Given the description of an element on the screen output the (x, y) to click on. 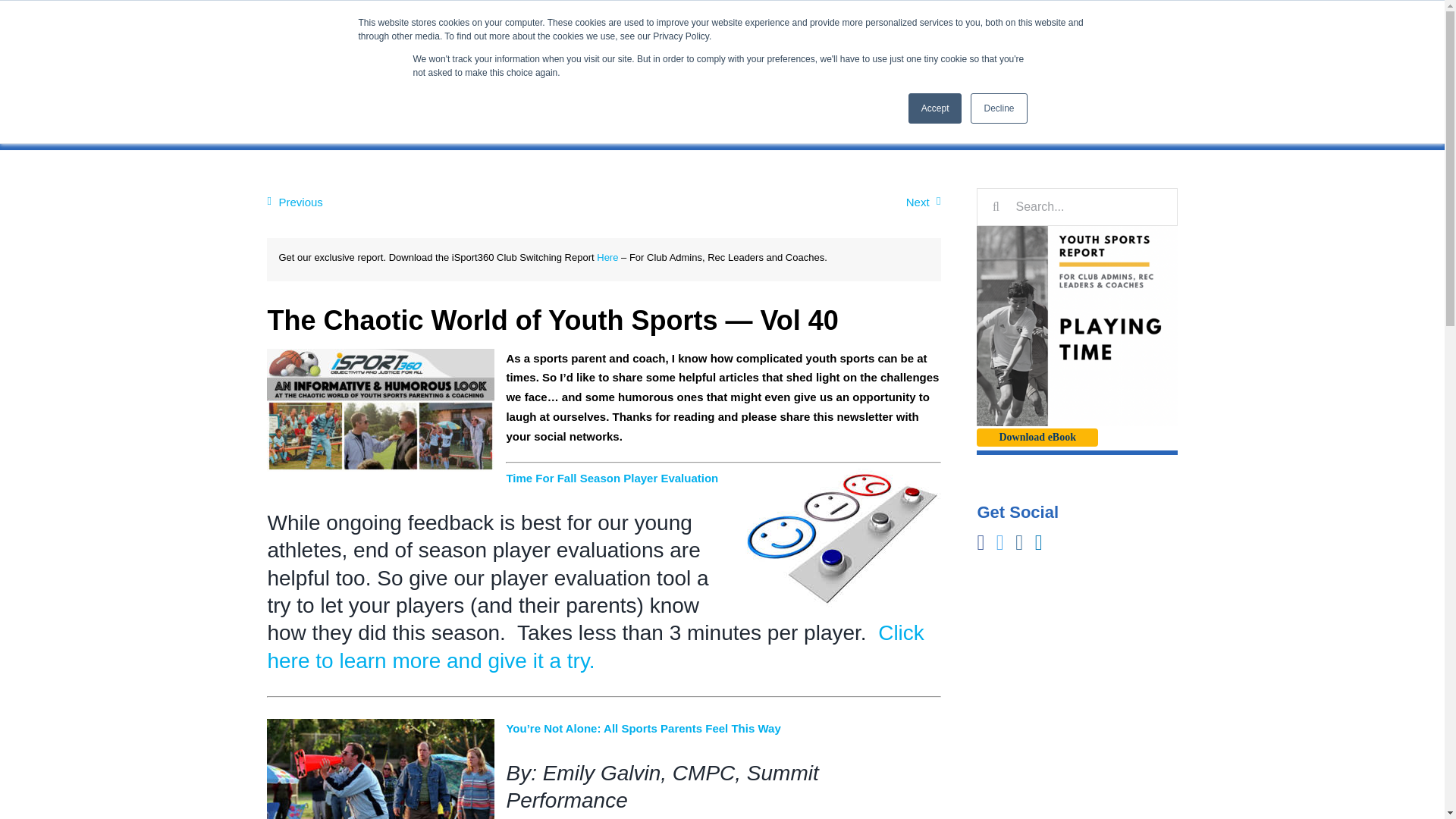
BLOG (1162, 74)
LinkedIn (328, 15)
ABOUT (1035, 74)
Facebook (268, 15)
Instagram (308, 15)
Twitter (288, 15)
SIGN UP (1052, 15)
Decline (998, 108)
WHO USES ISPORT360? (928, 74)
LOGIN (1136, 15)
Accept (935, 108)
SPORTS (1099, 74)
FEATURES (810, 74)
